Given the description of an element on the screen output the (x, y) to click on. 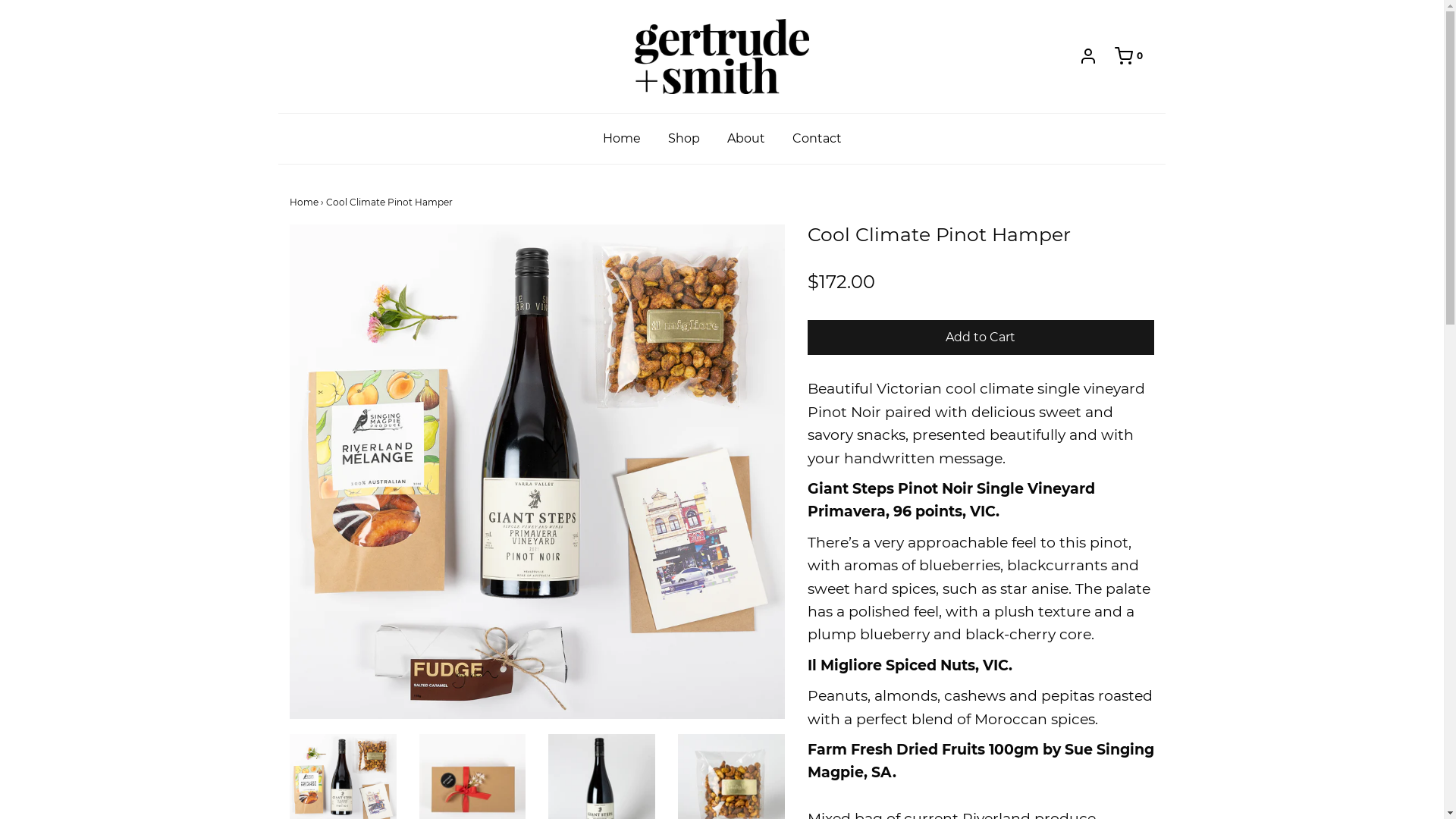
About Element type: text (745, 138)
0 Element type: text (1120, 56)
Add to Cart Element type: text (980, 337)
Home Element type: text (621, 138)
Shop Element type: text (683, 138)
Contact Element type: text (817, 138)
Home Element type: text (303, 201)
Log in Element type: hover (1088, 56)
